Given the description of an element on the screen output the (x, y) to click on. 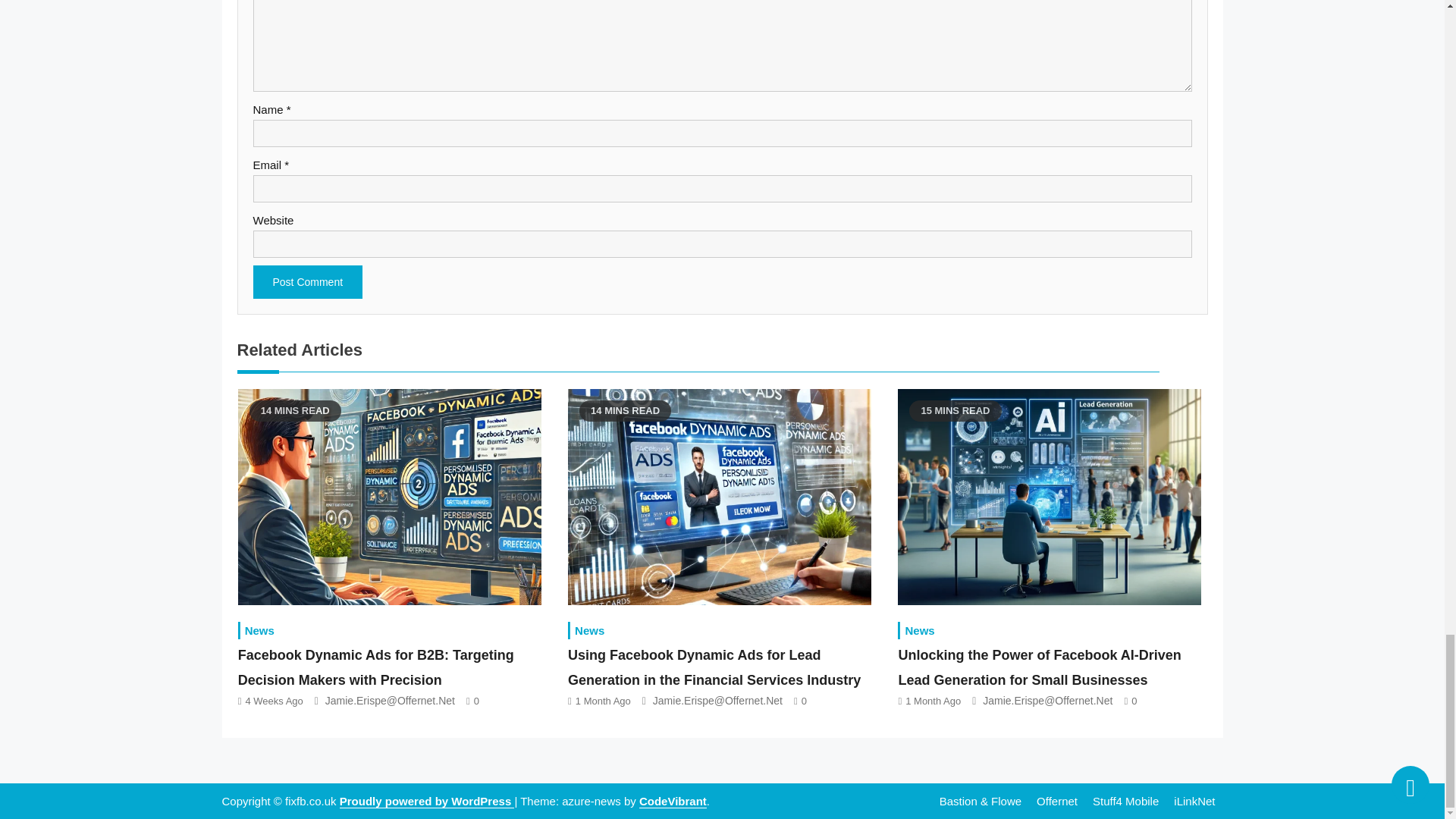
Post Comment (307, 281)
